Given the description of an element on the screen output the (x, y) to click on. 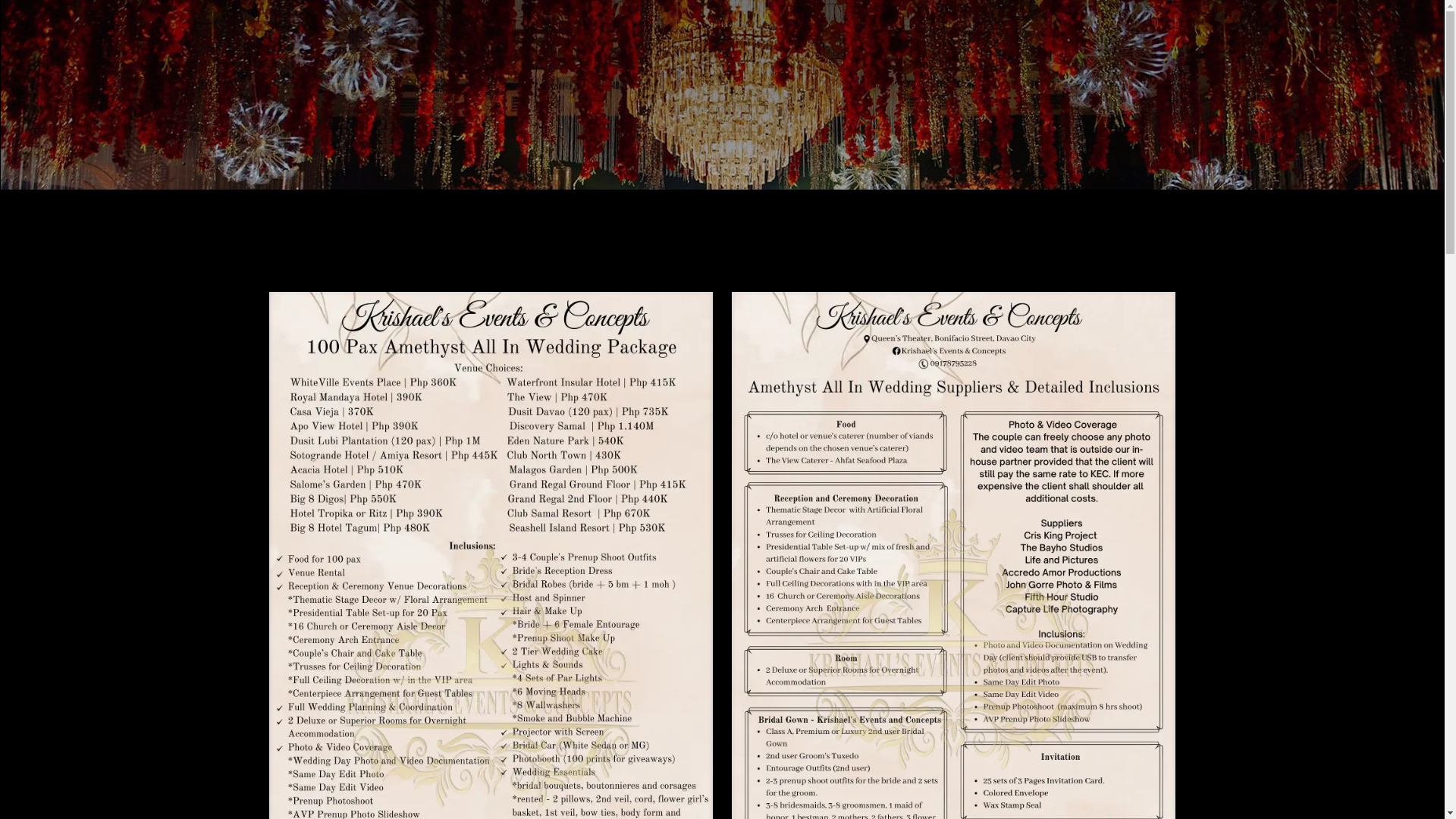
Twitter (1136, 23)
Pinterest (1155, 23)
Instagram (1177, 23)
Facebook (1095, 23)
